Given the description of an element on the screen output the (x, y) to click on. 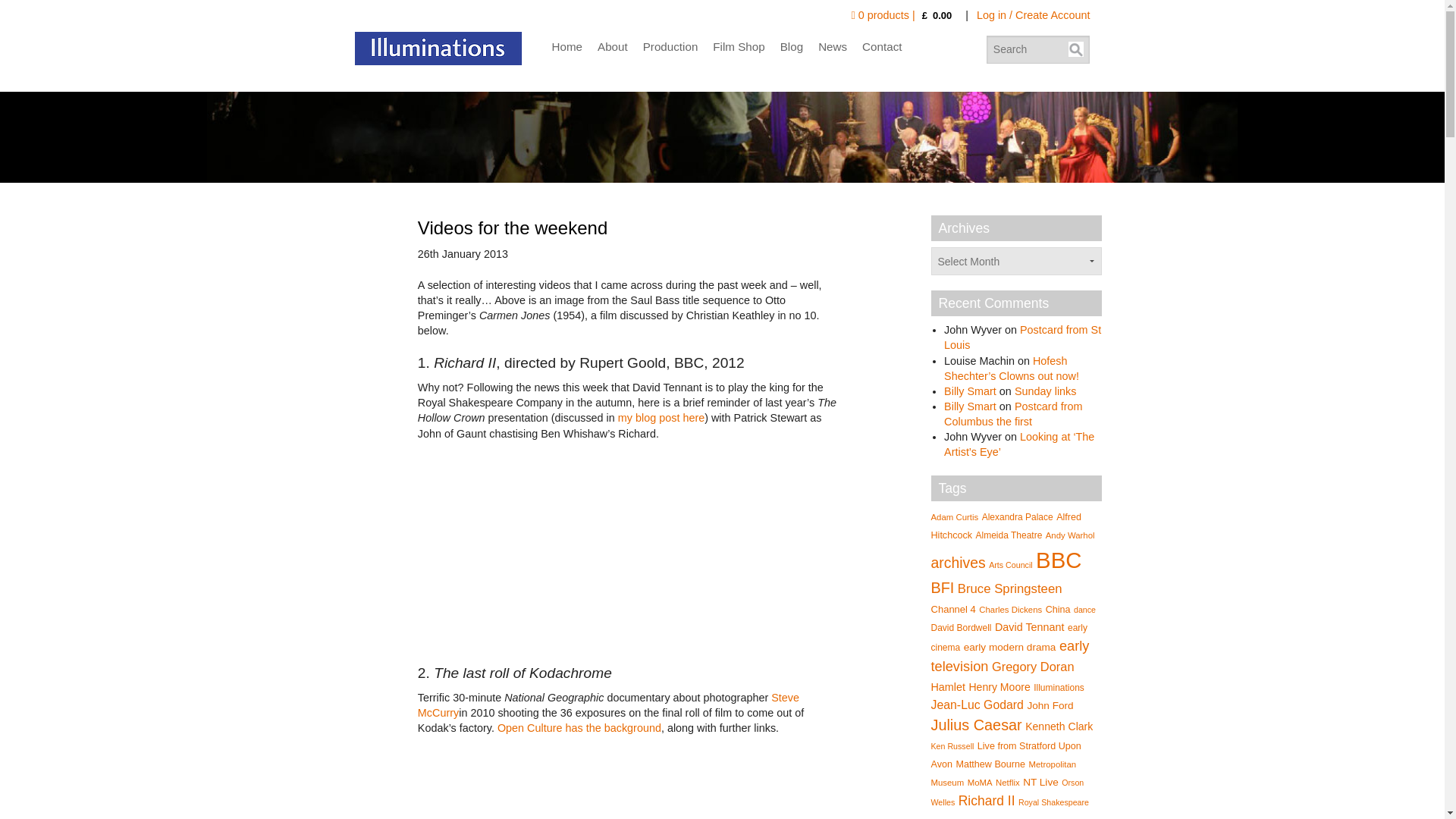
Production (670, 47)
Contact (882, 47)
Videos for the weekend (512, 227)
Go (1075, 48)
Film Shop (738, 47)
Open Culture has the background (579, 727)
News (831, 47)
Steve McCurry (608, 705)
Home (567, 47)
About (612, 47)
